Given the description of an element on the screen output the (x, y) to click on. 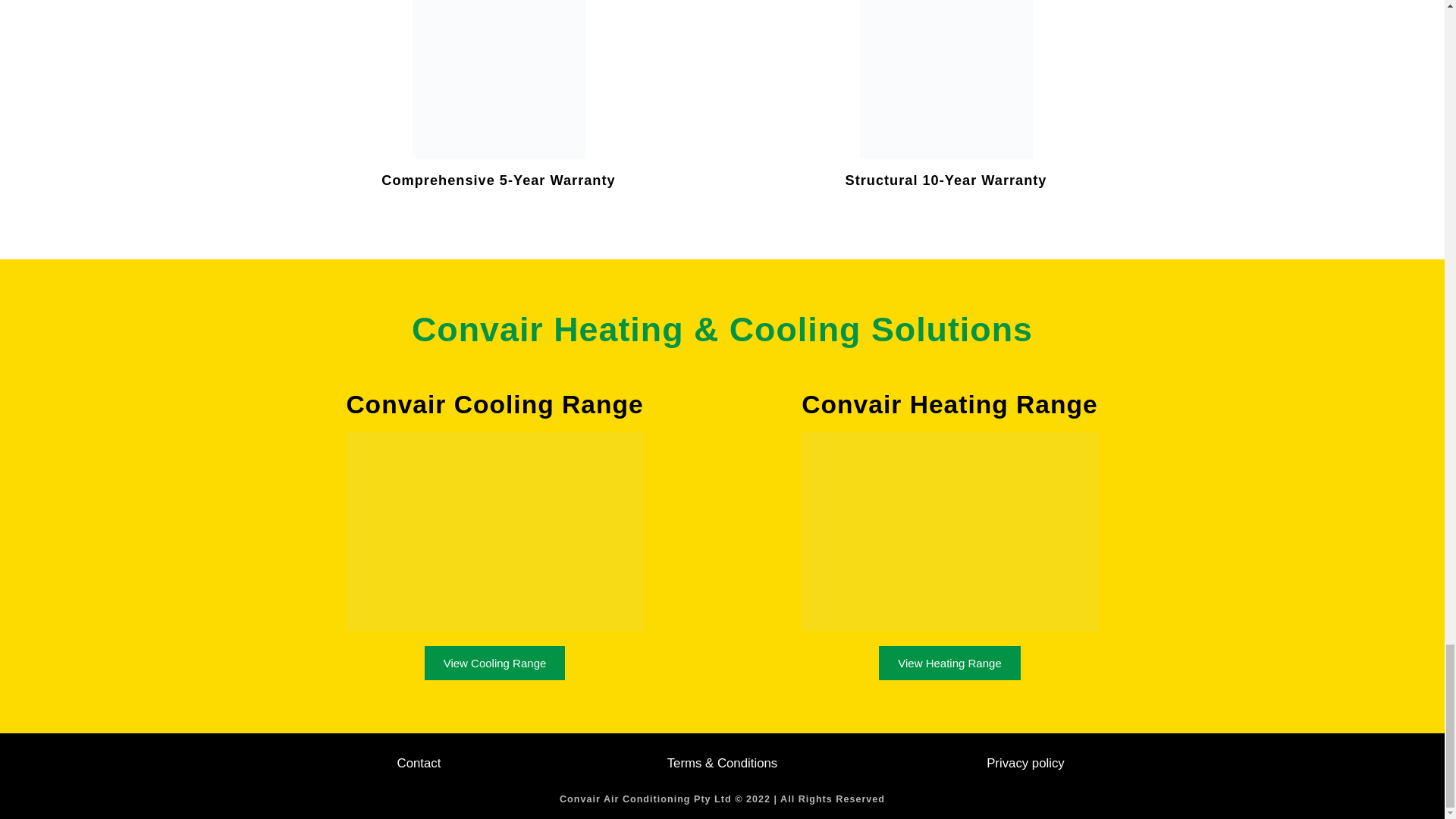
Contact (419, 763)
View Heating Range (949, 663)
View Cooling Range (495, 663)
Privacy policy (1025, 763)
